Given the description of an element on the screen output the (x, y) to click on. 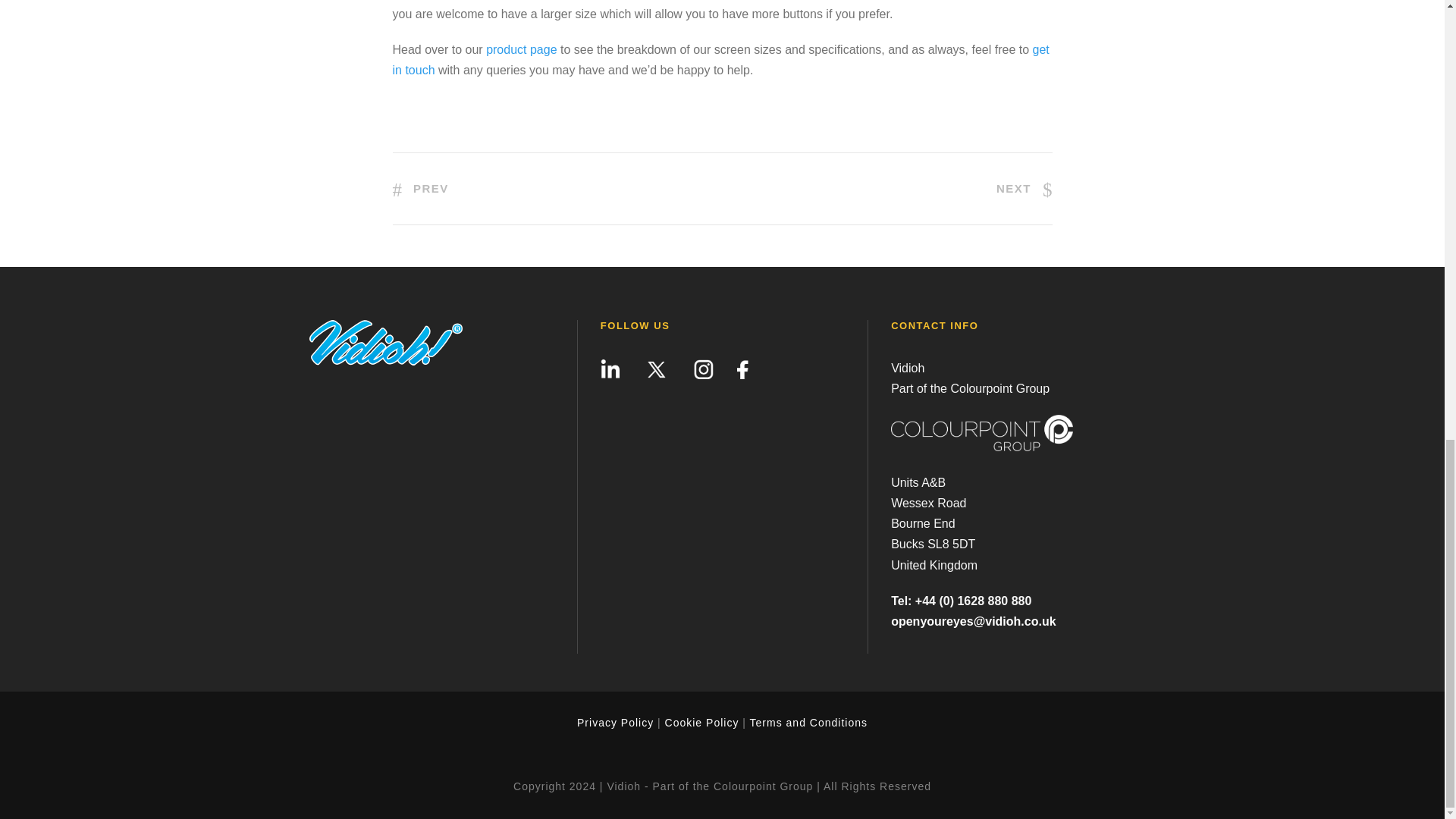
product page (521, 49)
NEXT (1023, 187)
get in touch (721, 59)
PREV (420, 187)
